Given the description of an element on the screen output the (x, y) to click on. 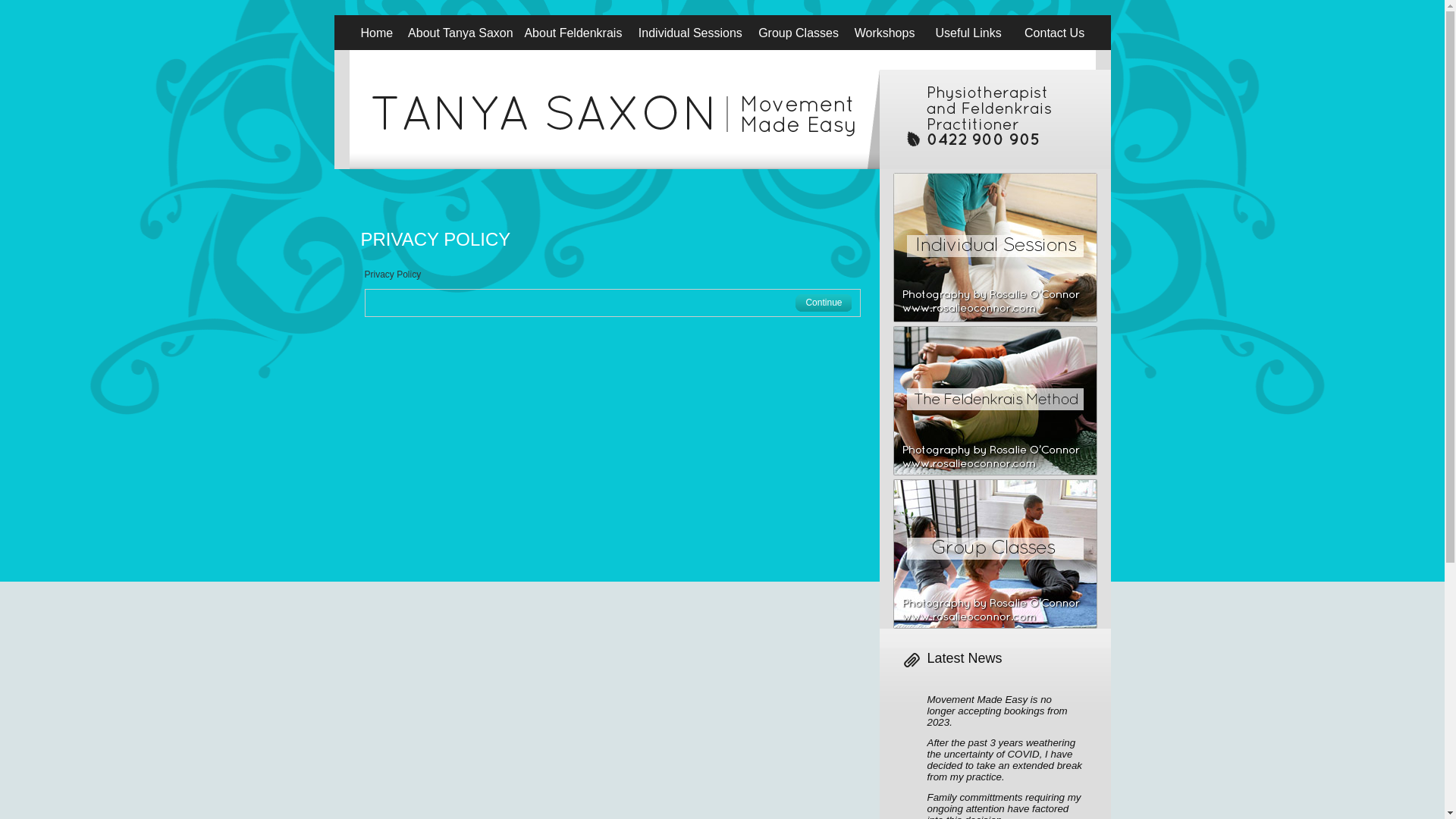
About Tanya Saxon Element type: text (460, 48)
Workshops Element type: text (884, 48)
Contact Us Element type: text (1054, 48)
Individual Sessions Element type: text (689, 48)
Group Classes Element type: text (797, 48)
About Feldenkrais Element type: text (573, 48)
Home Element type: text (376, 48)
Continue Element type: text (822, 302)
Useful Links Element type: text (967, 48)
